Given the description of an element on the screen output the (x, y) to click on. 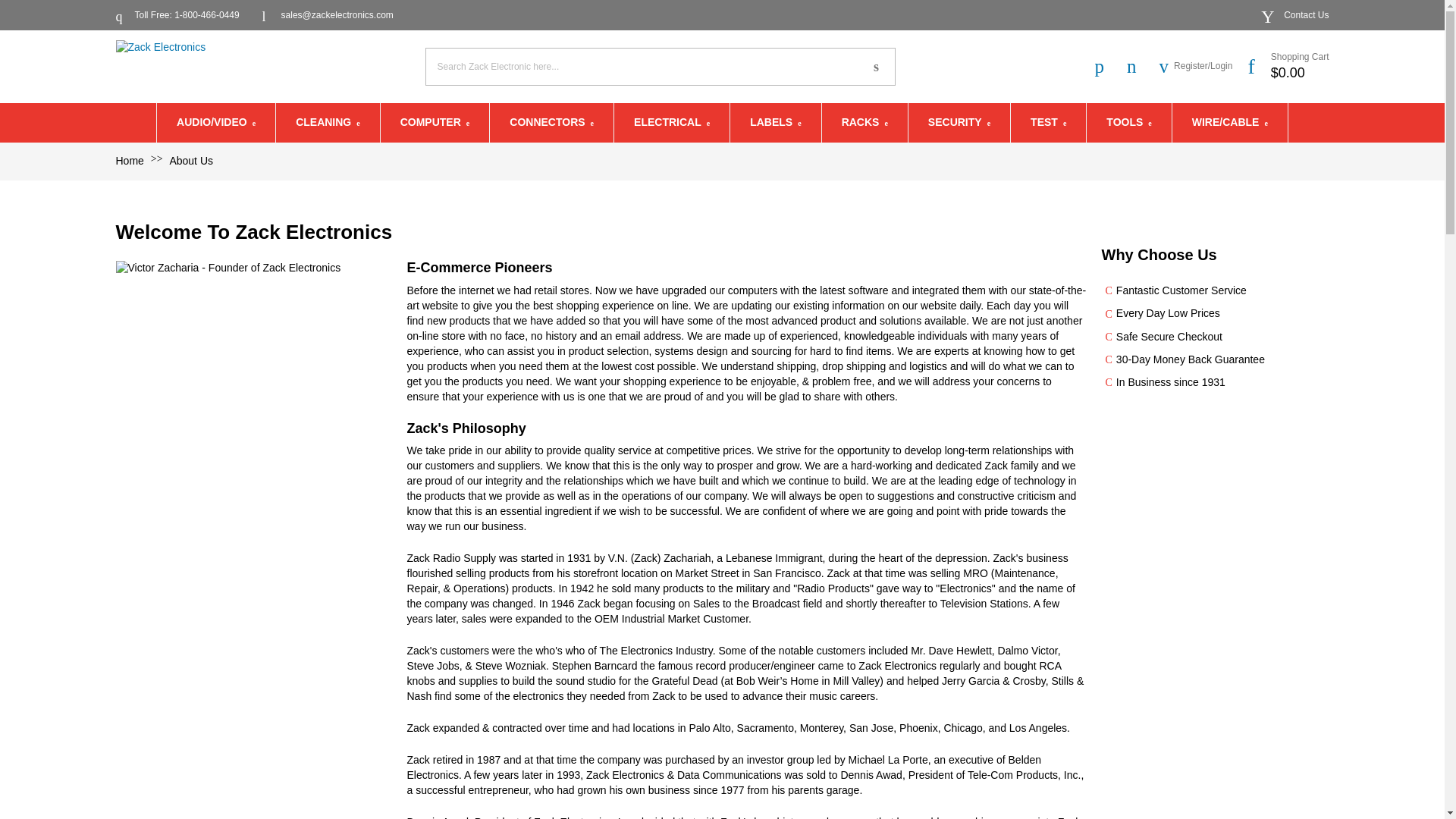
Search (876, 66)
Electrical (671, 122)
Zack Electronics (170, 66)
Tools (1128, 122)
Racks (864, 122)
Compare Products (1103, 66)
Go to Home Page (131, 160)
Test (1048, 122)
Labels (775, 122)
Connectors (550, 122)
